Given the description of an element on the screen output the (x, y) to click on. 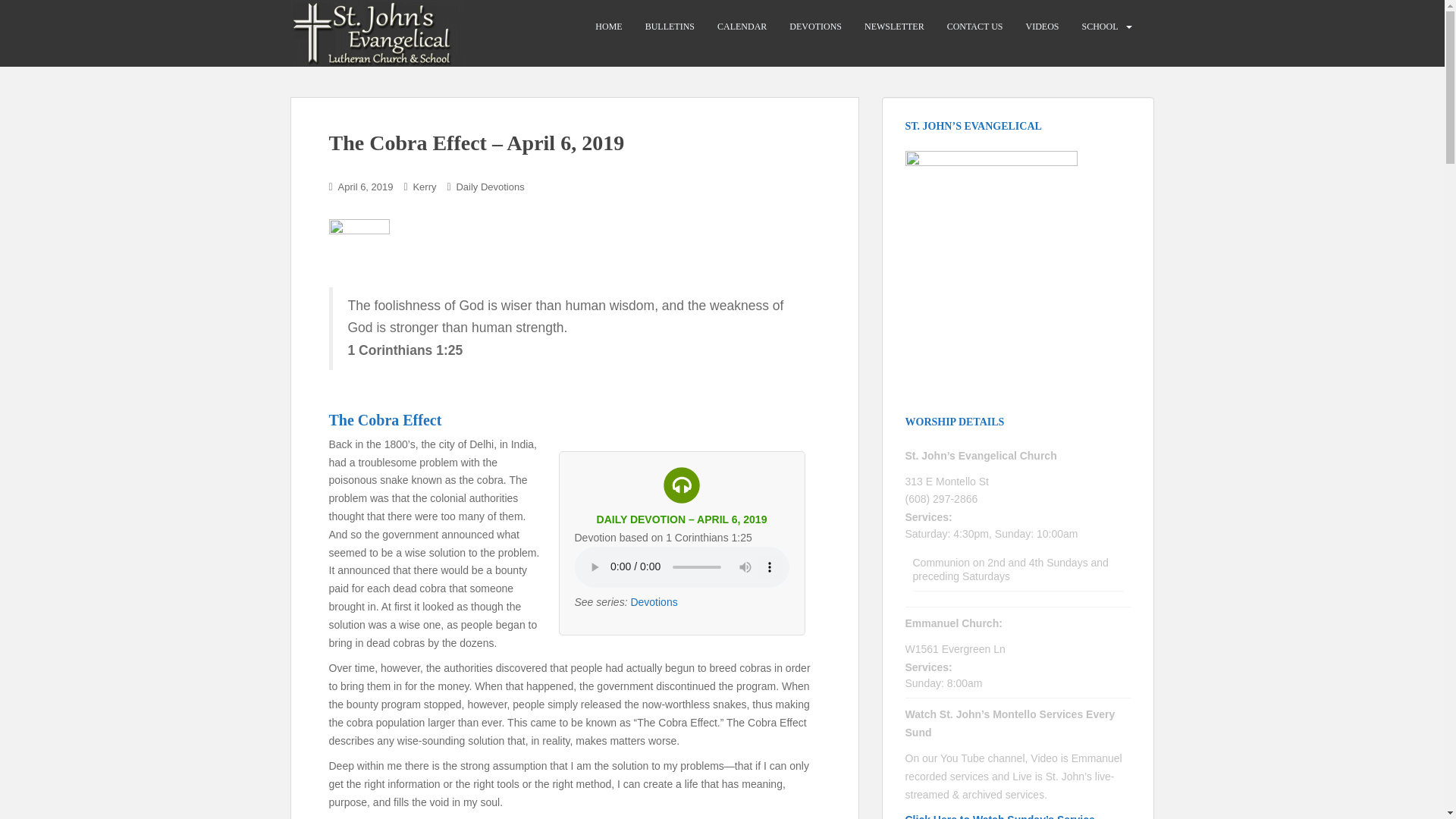
NEWSLETTER (894, 26)
SCHOOL (1099, 26)
CALENDAR (742, 26)
Devotions (653, 602)
DEVOTIONS (815, 26)
CONTACT US (975, 26)
BULLETINS (669, 26)
Daily Devotions (489, 186)
Kerry (423, 186)
VIDEOS (1041, 26)
